Given the description of an element on the screen output the (x, y) to click on. 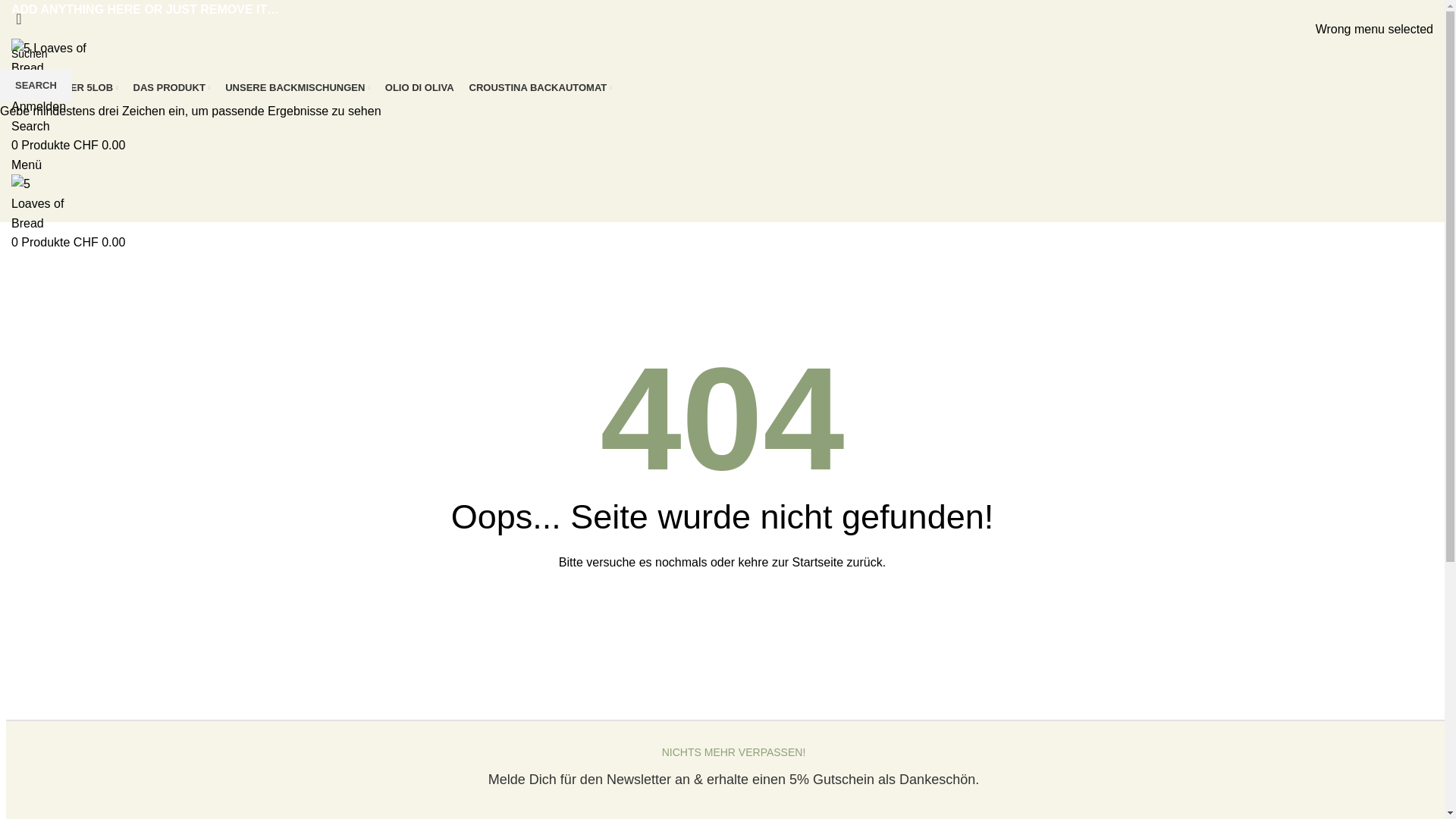
OLIO DI OLIVA Element type: text (419, 87)
SEARCH Element type: text (36, 85)
Search Element type: text (30, 125)
CROUSTINA BACKAUTOMAT Element type: text (540, 87)
HOME Element type: text (25, 87)
Anmelden Element type: text (38, 106)
UNSERE BACKMISCHUNGEN Element type: text (297, 87)
0 Produkte CHF 0.00 Element type: text (68, 144)
DAS PRODUKT Element type: text (171, 87)
0 Produkte CHF 0.00 Element type: text (68, 241)
Suchen Element type: hover (722, 53)
